Given the description of an element on the screen output the (x, y) to click on. 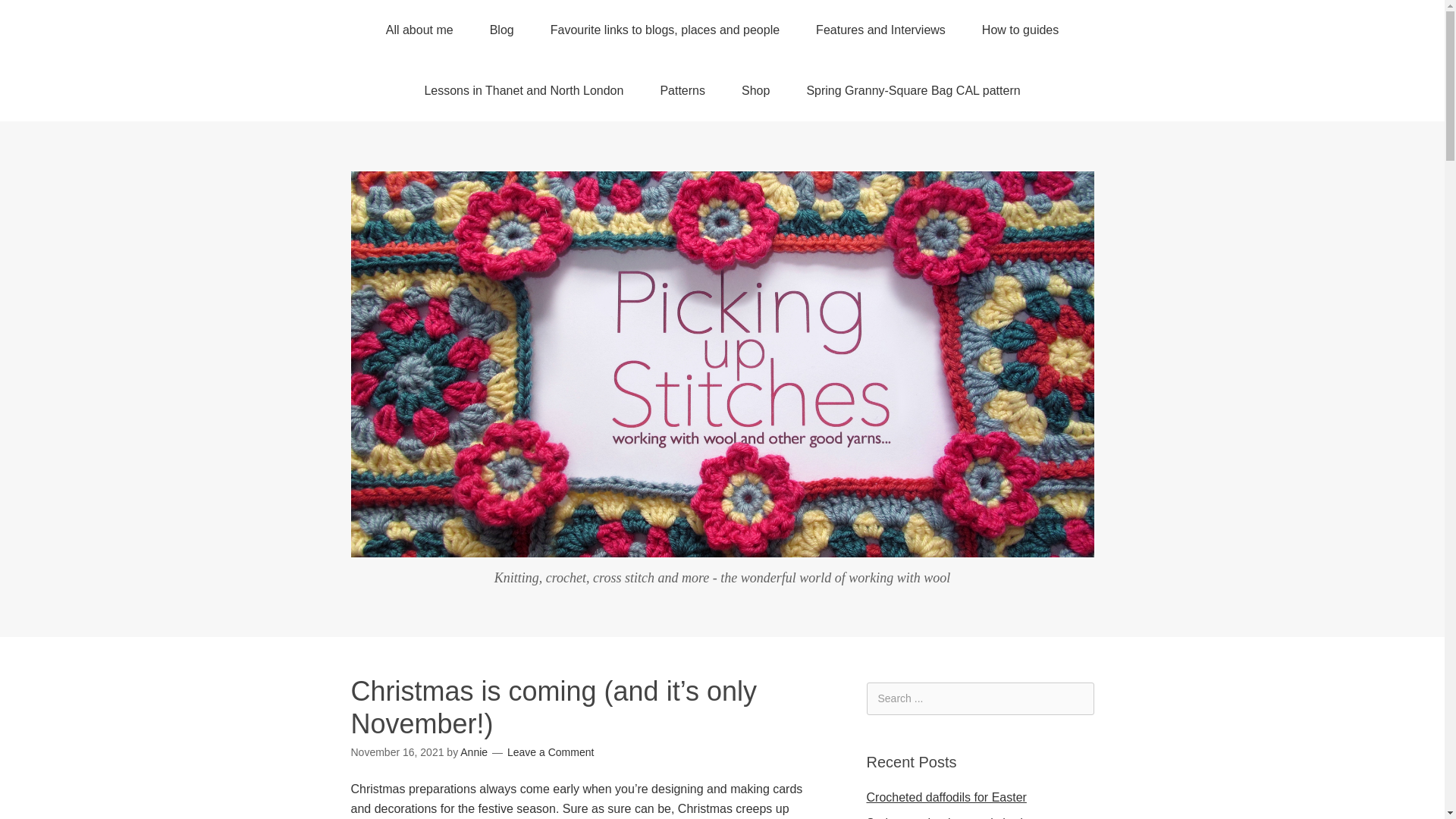
Tuesday, November 16, 2021, 3:31 pm (397, 752)
Spring Granny-Square Bag CAL pattern (912, 90)
Annie (473, 752)
Shop (755, 90)
Blog (501, 30)
Picking Up Stitches (721, 545)
Leave a Comment (550, 752)
Patterns (682, 90)
All about me (419, 30)
Lessons in Thanet and North London (524, 90)
